Given the description of an element on the screen output the (x, y) to click on. 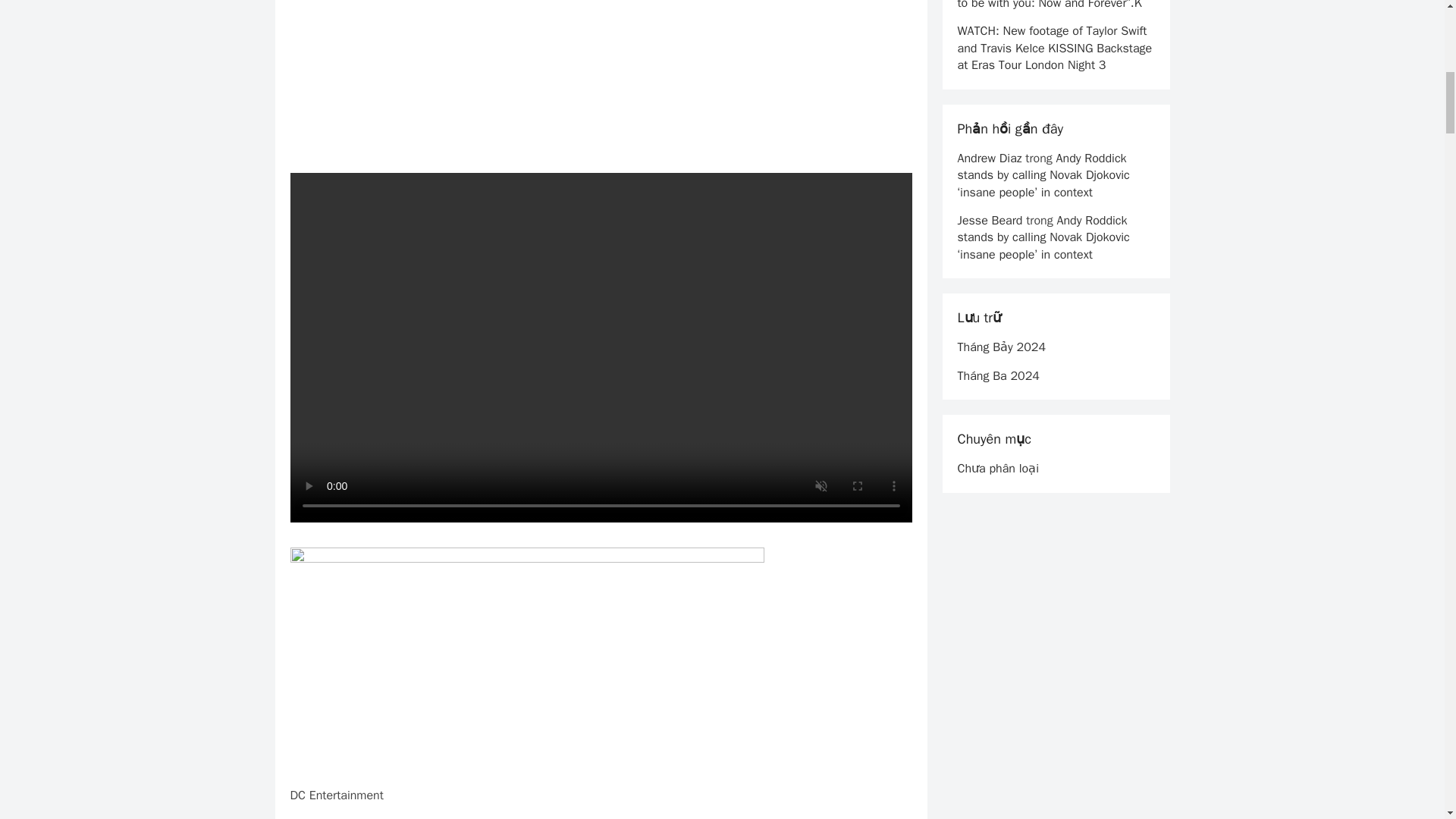
Advertisement (600, 86)
